Given the description of an element on the screen output the (x, y) to click on. 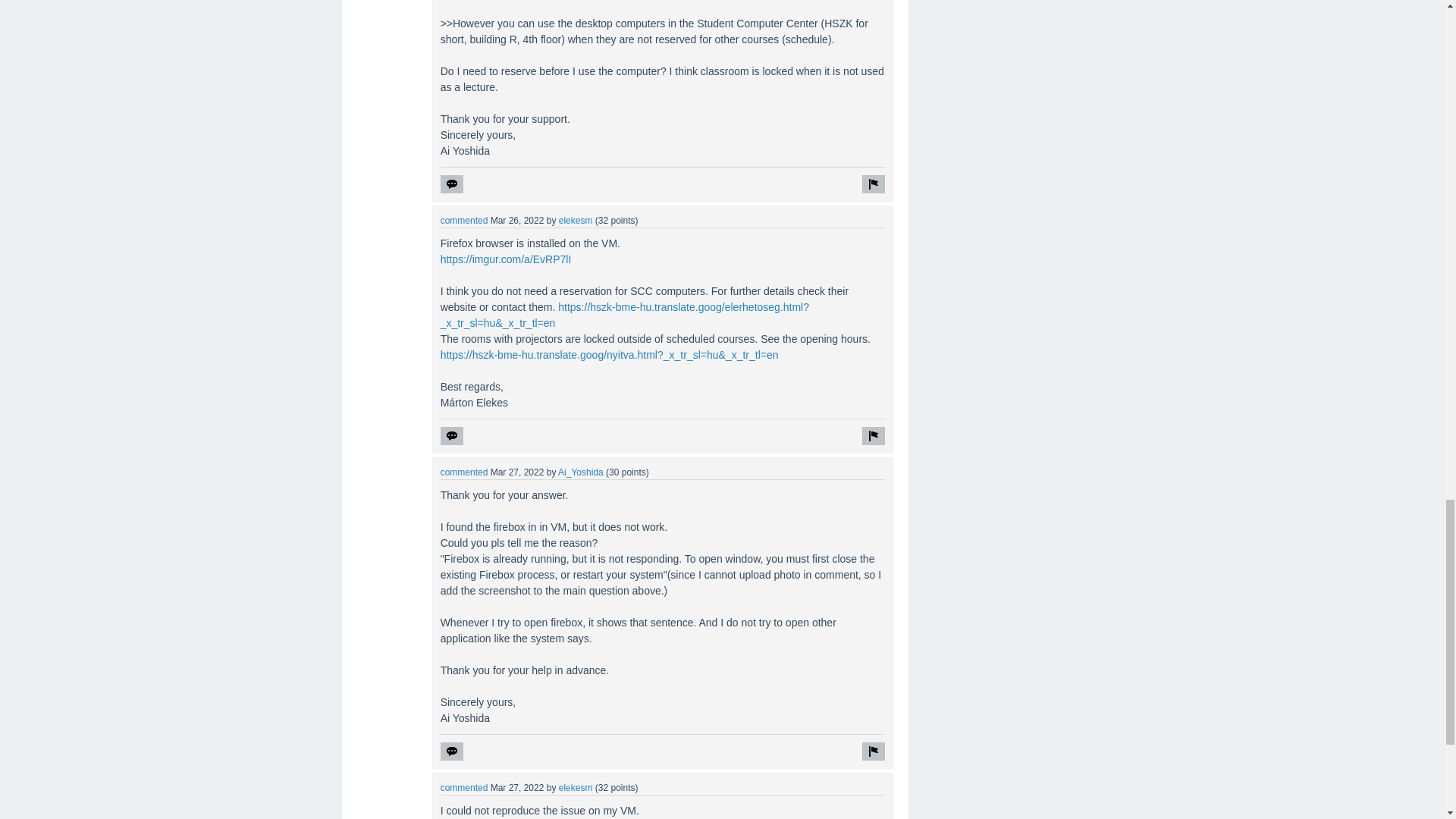
reply (452, 435)
flag (873, 435)
flag (873, 184)
flag (873, 751)
reply (452, 751)
reply (452, 184)
